Given the description of an element on the screen output the (x, y) to click on. 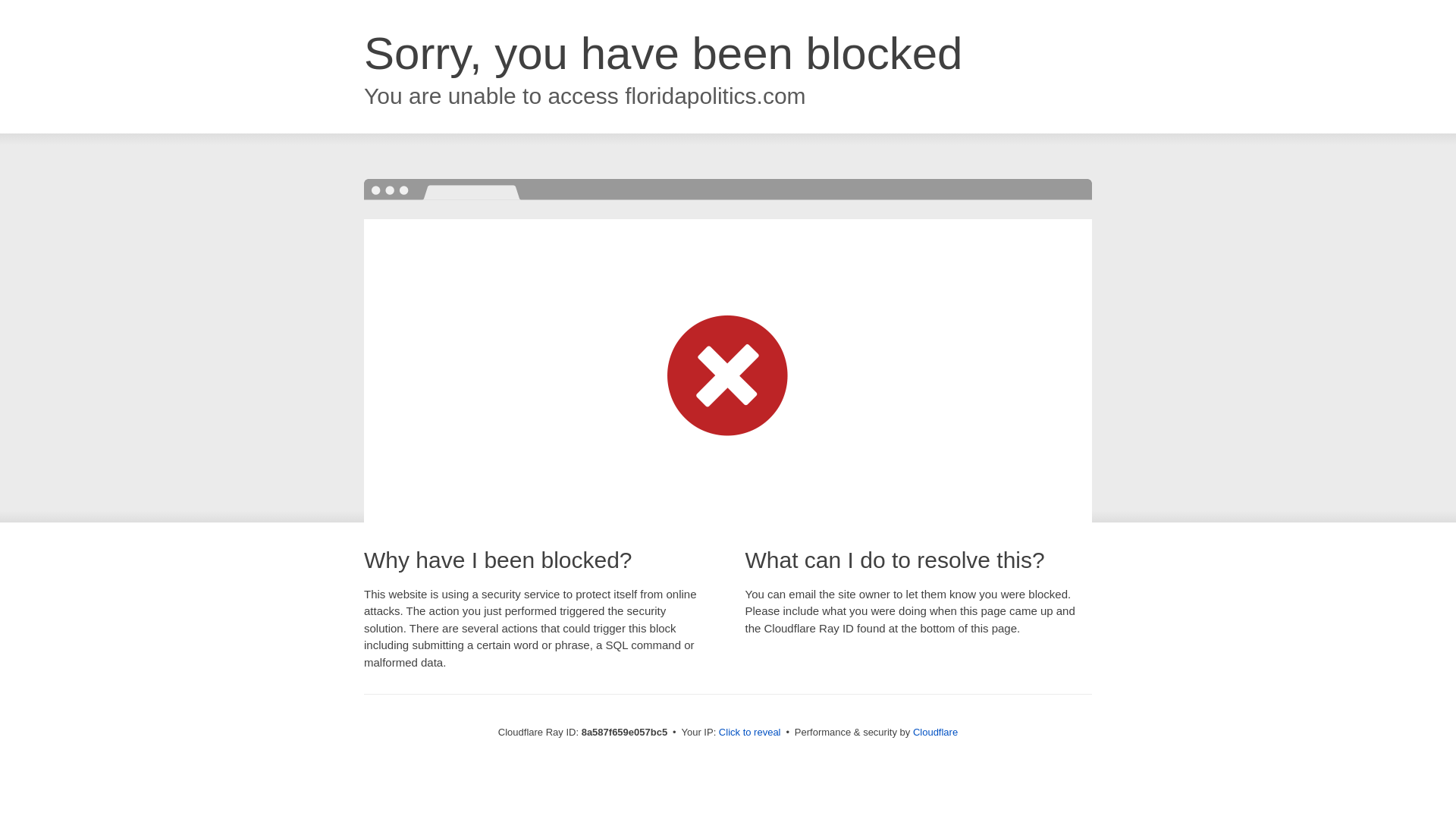
Click to reveal (749, 732)
Cloudflare (935, 731)
